Given the description of an element on the screen output the (x, y) to click on. 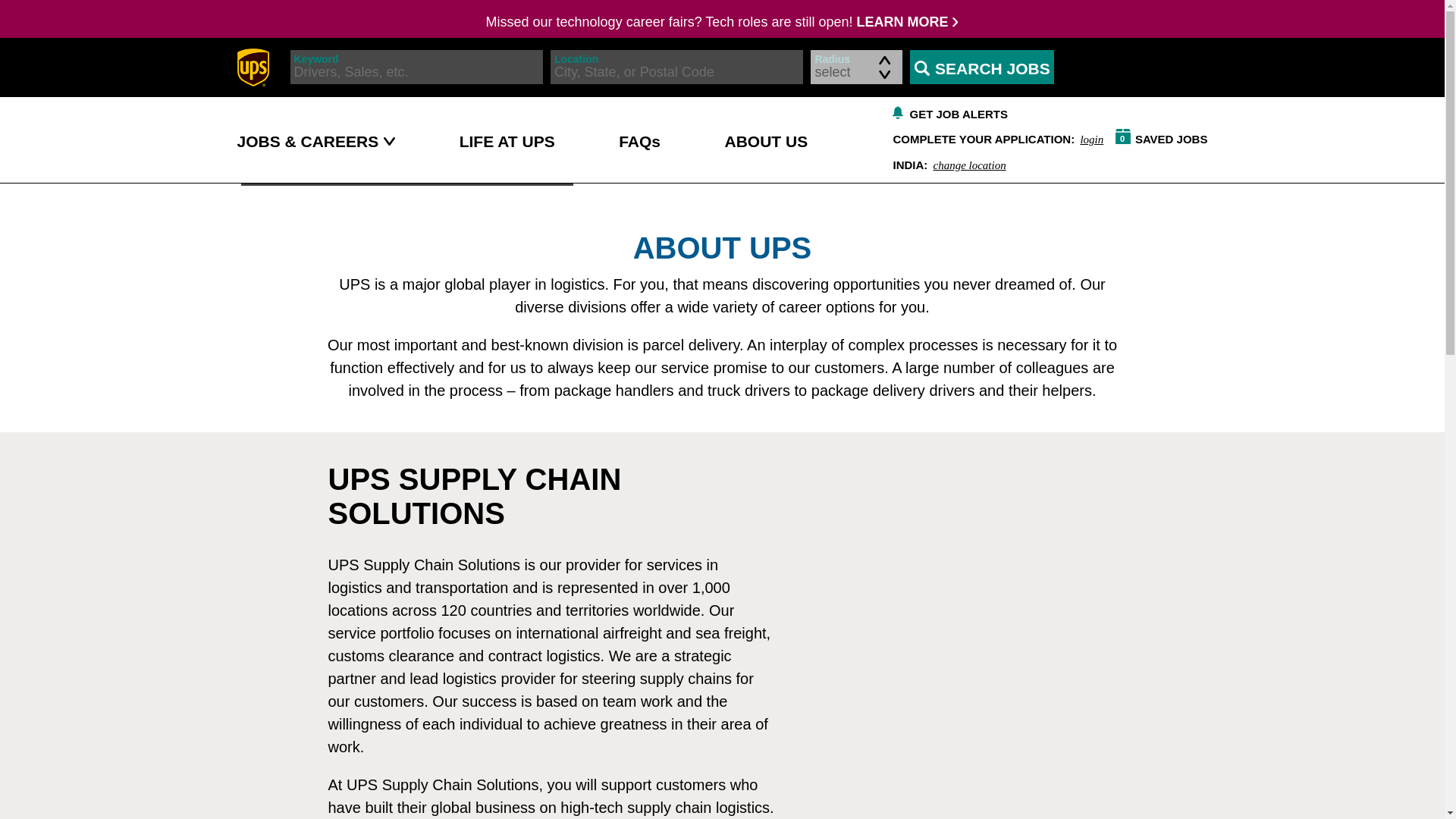
COMPLETE YOUR APPLICATION: login (994, 137)
FAQs (1158, 137)
ABOUT US (639, 139)
LIFE AT UPS (765, 139)
INDIA: change location (507, 139)
GET JOB ALERTS (945, 163)
SEARCH JOBS (946, 112)
